Given the description of an element on the screen output the (x, y) to click on. 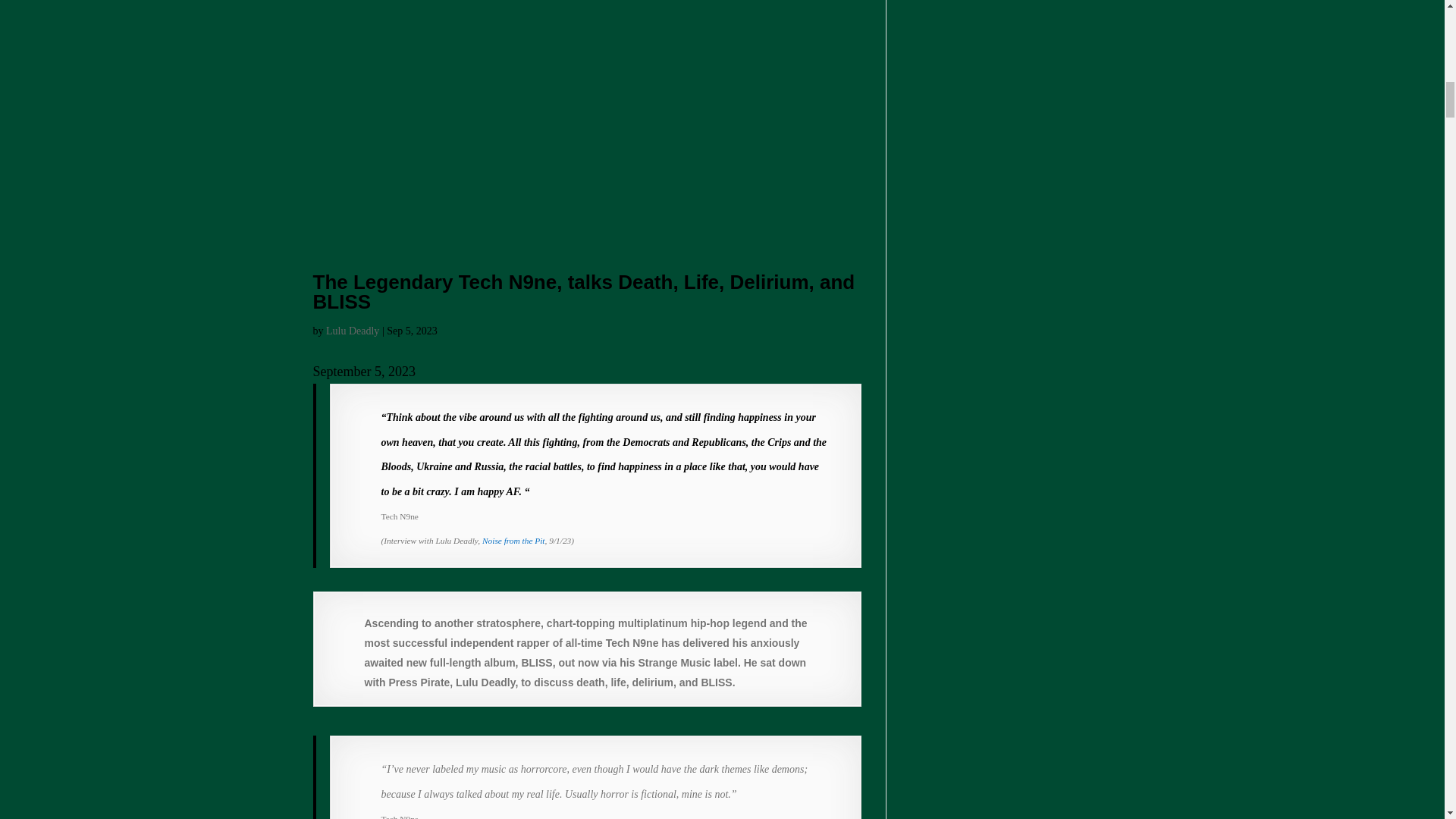
Noise from the Pit (512, 540)
Give Aways (512, 540)
Lulu Deadly (352, 330)
Posts by Lulu Deadly (352, 330)
